Given the description of an element on the screen output the (x, y) to click on. 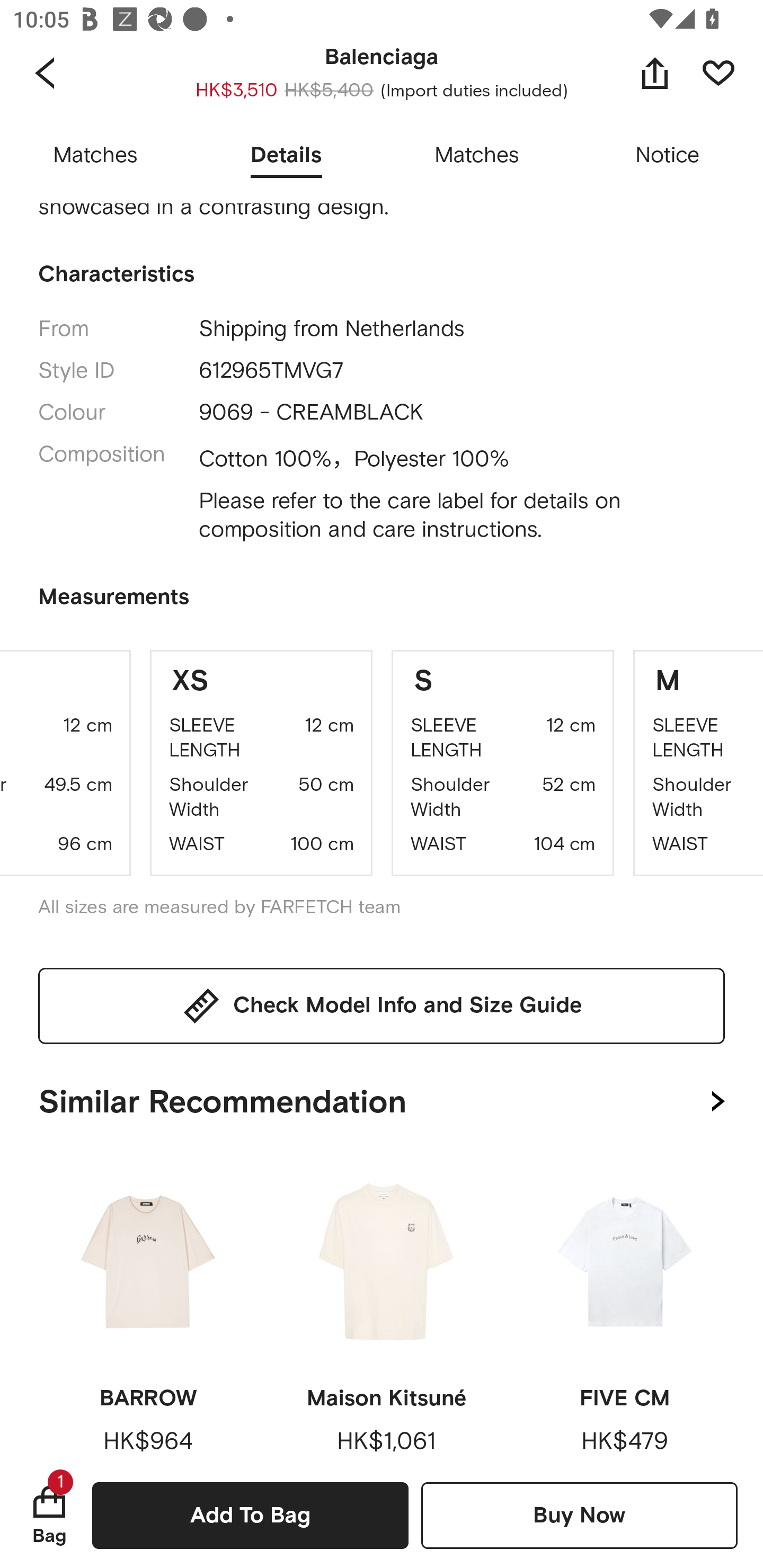
Matches (95, 155)
Matches (476, 155)
Notice (667, 155)
 Check Model Info and Size Guide (381, 1005)
Similar Recommendation (381, 1098)
BARROW HK$964 (147, 1307)
Maison Kitsuné HK$1,061 (385, 1307)
FIVE CM HK$479 (624, 1307)
Bag 1 (49, 1515)
Add To Bag (250, 1515)
Buy Now (579, 1515)
